Given the description of an element on the screen output the (x, y) to click on. 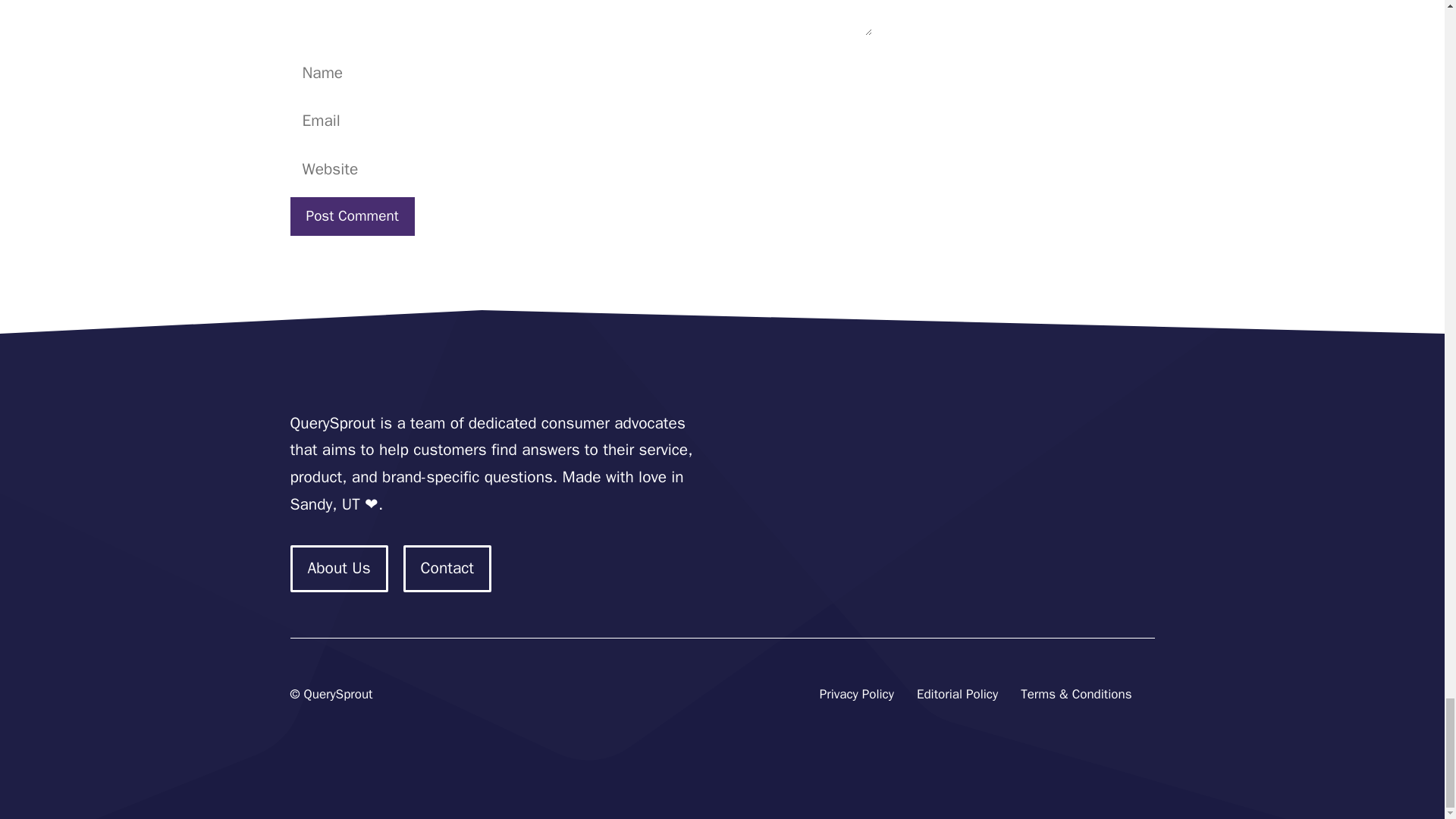
Post Comment (351, 216)
